Given the description of an element on the screen output the (x, y) to click on. 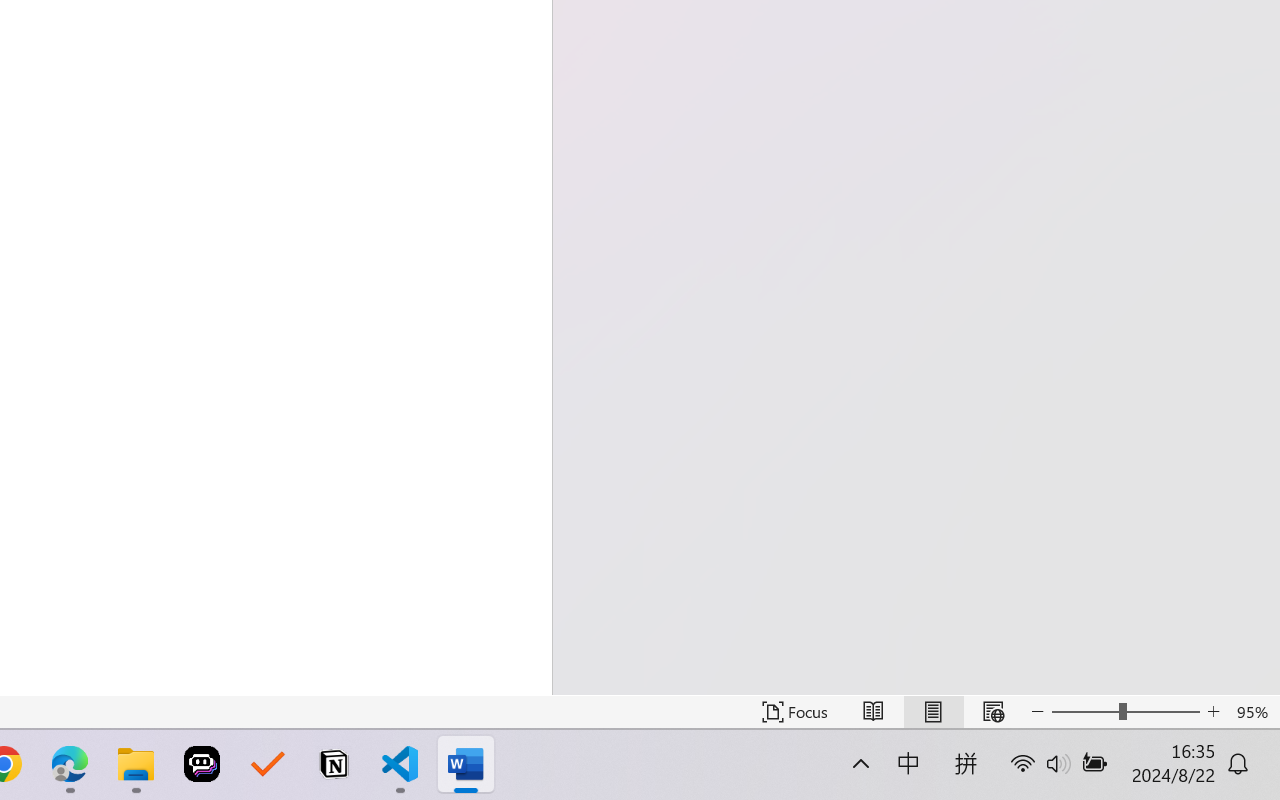
Zoom 95% (1253, 712)
